Given the description of an element on the screen output the (x, y) to click on. 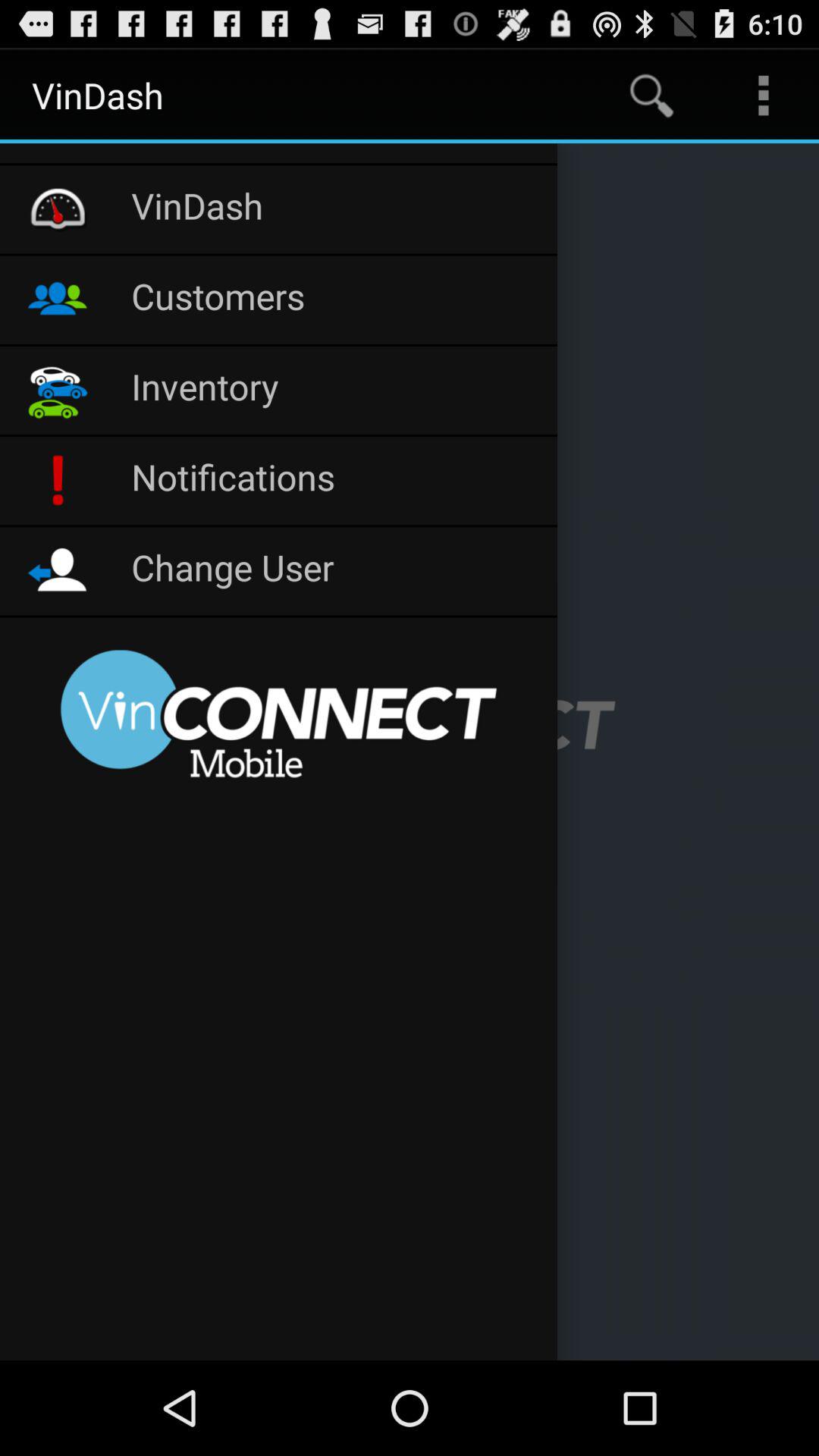
open icon above inventory item (336, 299)
